Given the description of an element on the screen output the (x, y) to click on. 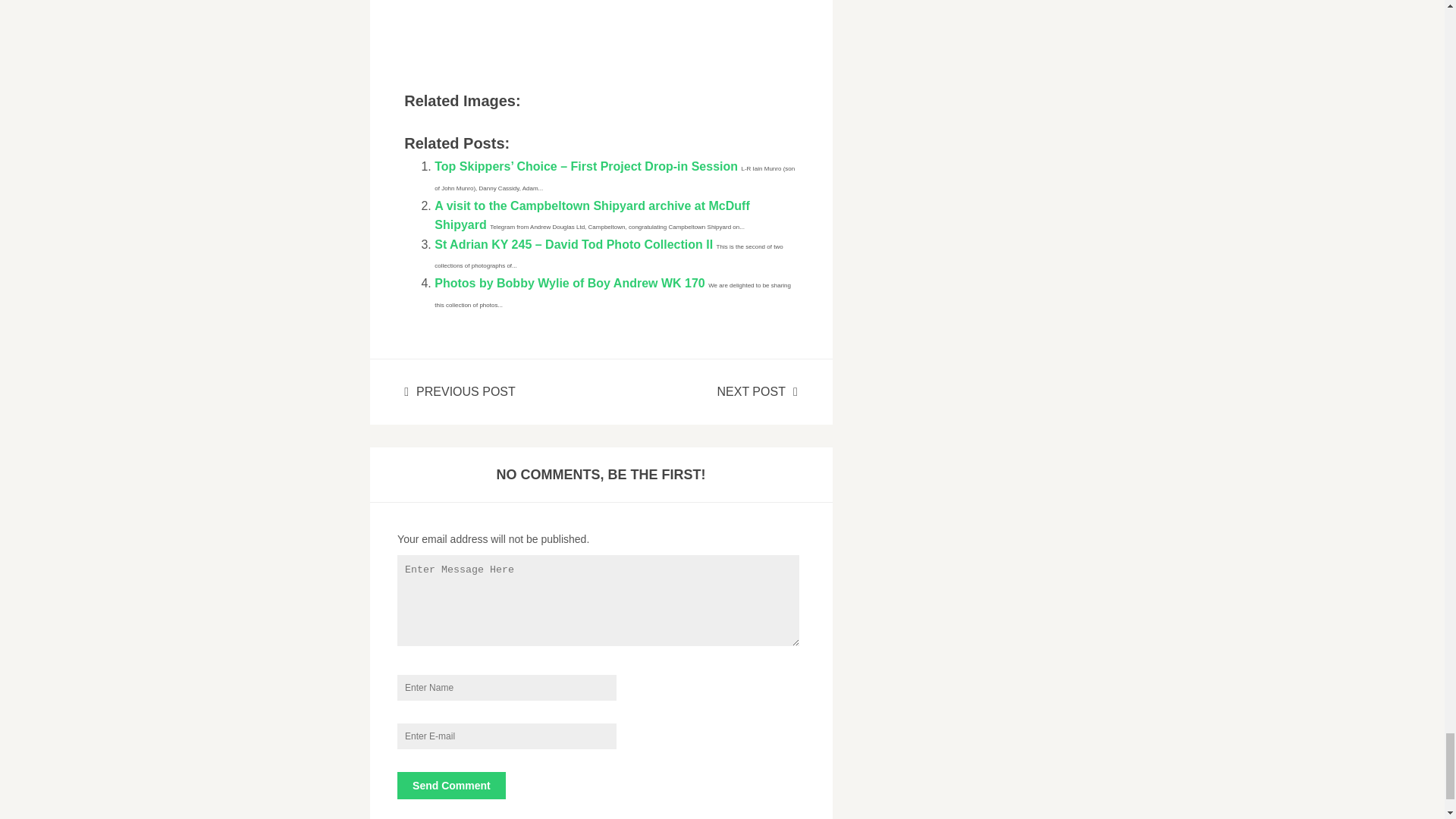
Send Comment (451, 785)
